Given the description of an element on the screen output the (x, y) to click on. 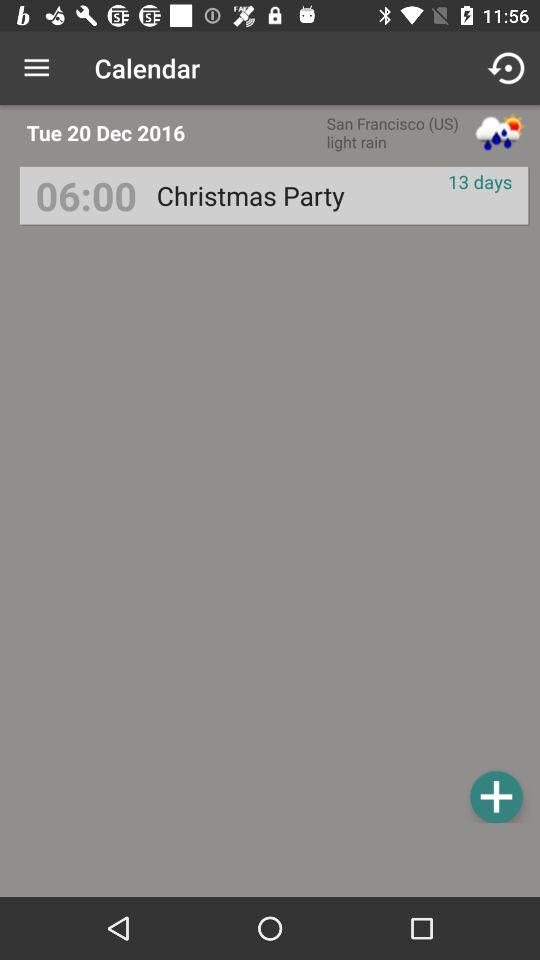
open the item below san francisco us icon (250, 195)
